Given the description of an element on the screen output the (x, y) to click on. 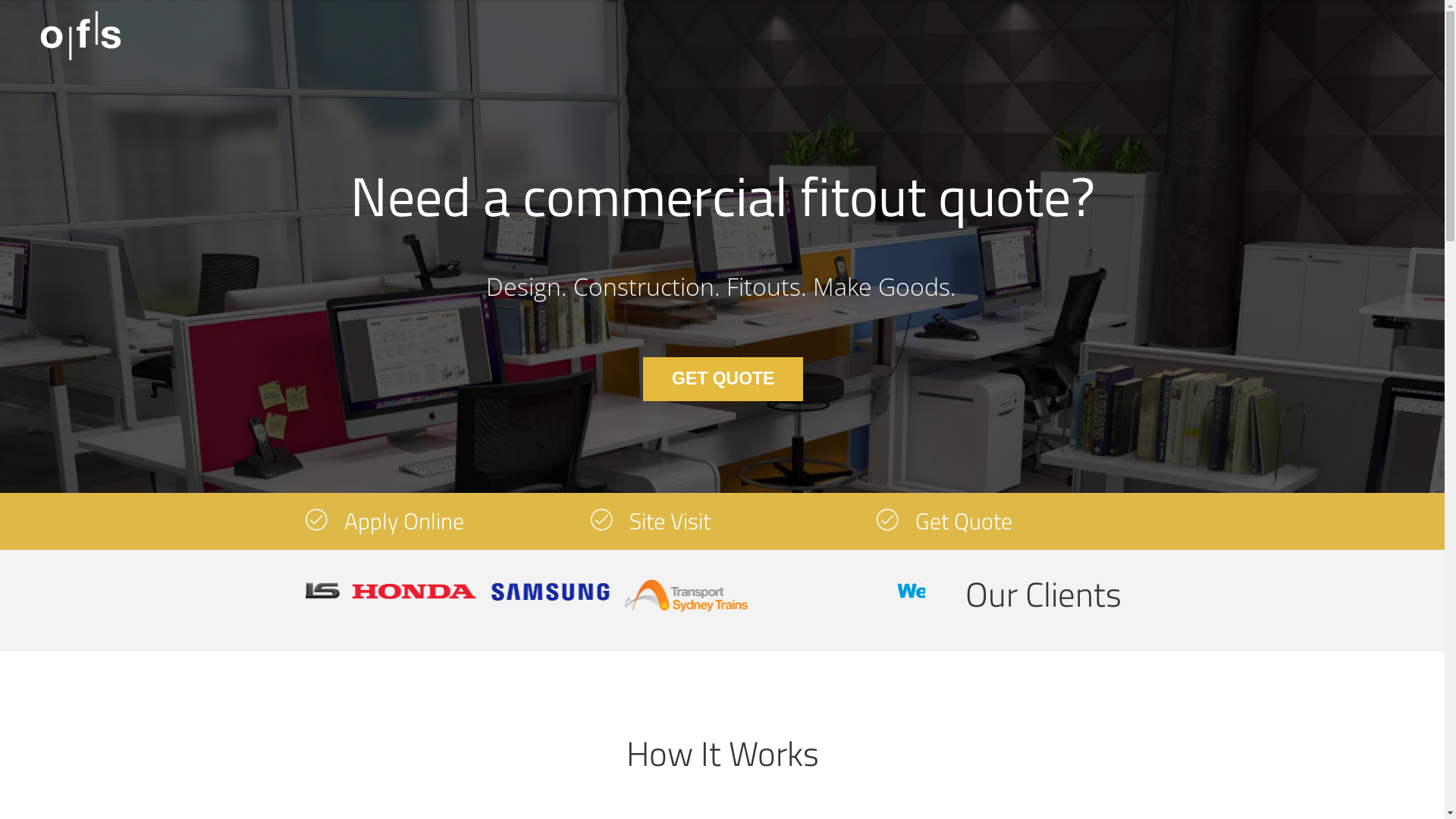
GET QUOTE Element type: text (723, 379)
